Given the description of an element on the screen output the (x, y) to click on. 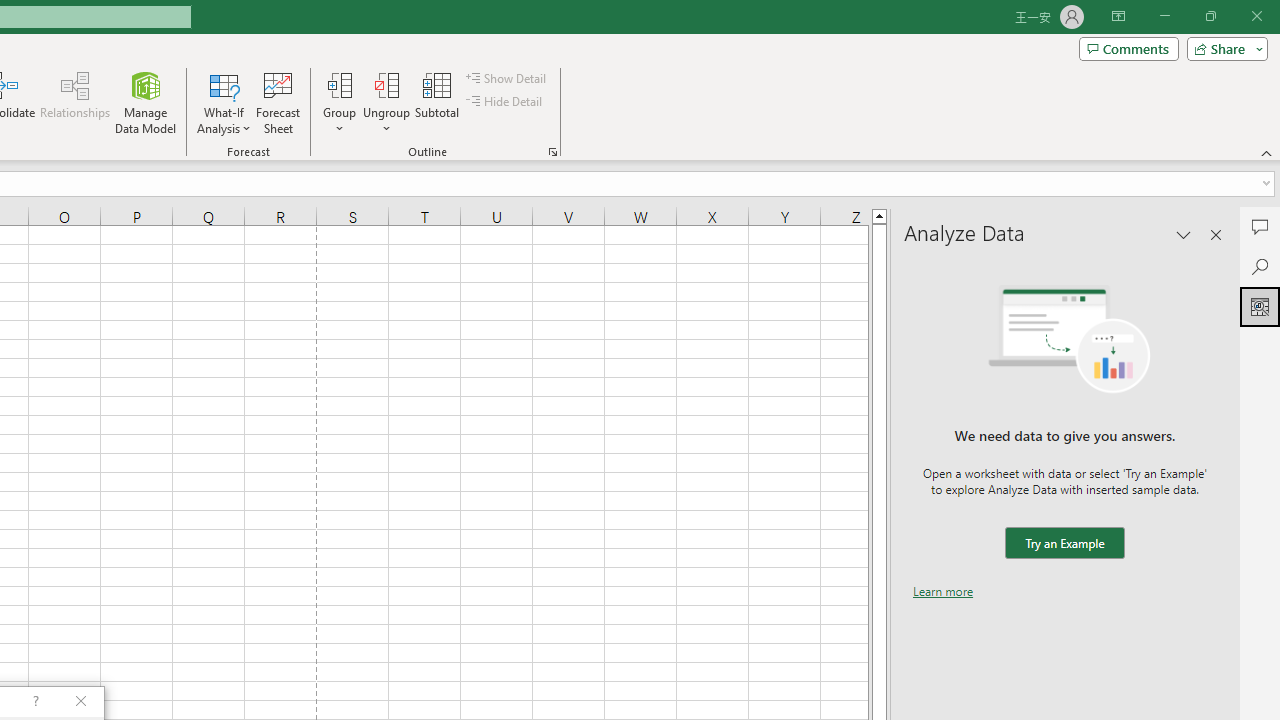
Relationships (75, 102)
Forecast Sheet (278, 102)
Hide Detail (505, 101)
What-If Analysis (223, 102)
Comments (1128, 48)
We need data to give you answers. Try an Example (1064, 543)
Line up (879, 215)
Manage Data Model (145, 102)
Ribbon Display Options (1118, 16)
Learn more (943, 591)
Collapse the Ribbon (1267, 152)
Group and Outline Settings (552, 151)
Ungroup... (386, 84)
